Given the description of an element on the screen output the (x, y) to click on. 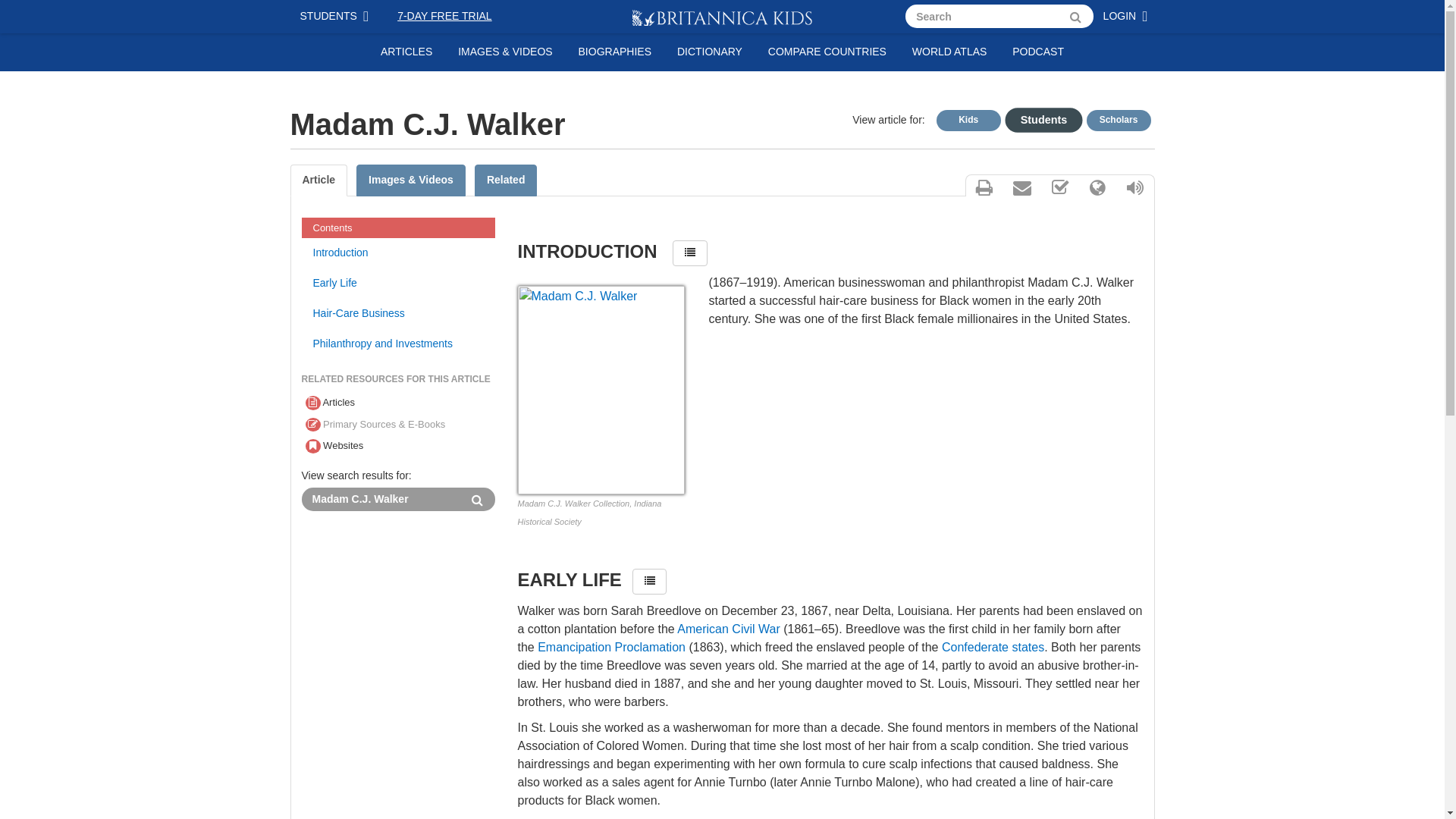
Grade 9 and Up (1118, 119)
STUDENTS (336, 16)
Madam C.J. Walker (381, 499)
Up to Grade 5 (968, 119)
Grades 6-8 (1036, 118)
Madam C.J. Walker (381, 499)
Table of Contents (689, 253)
Table of Contents (648, 581)
